Given the description of an element on the screen output the (x, y) to click on. 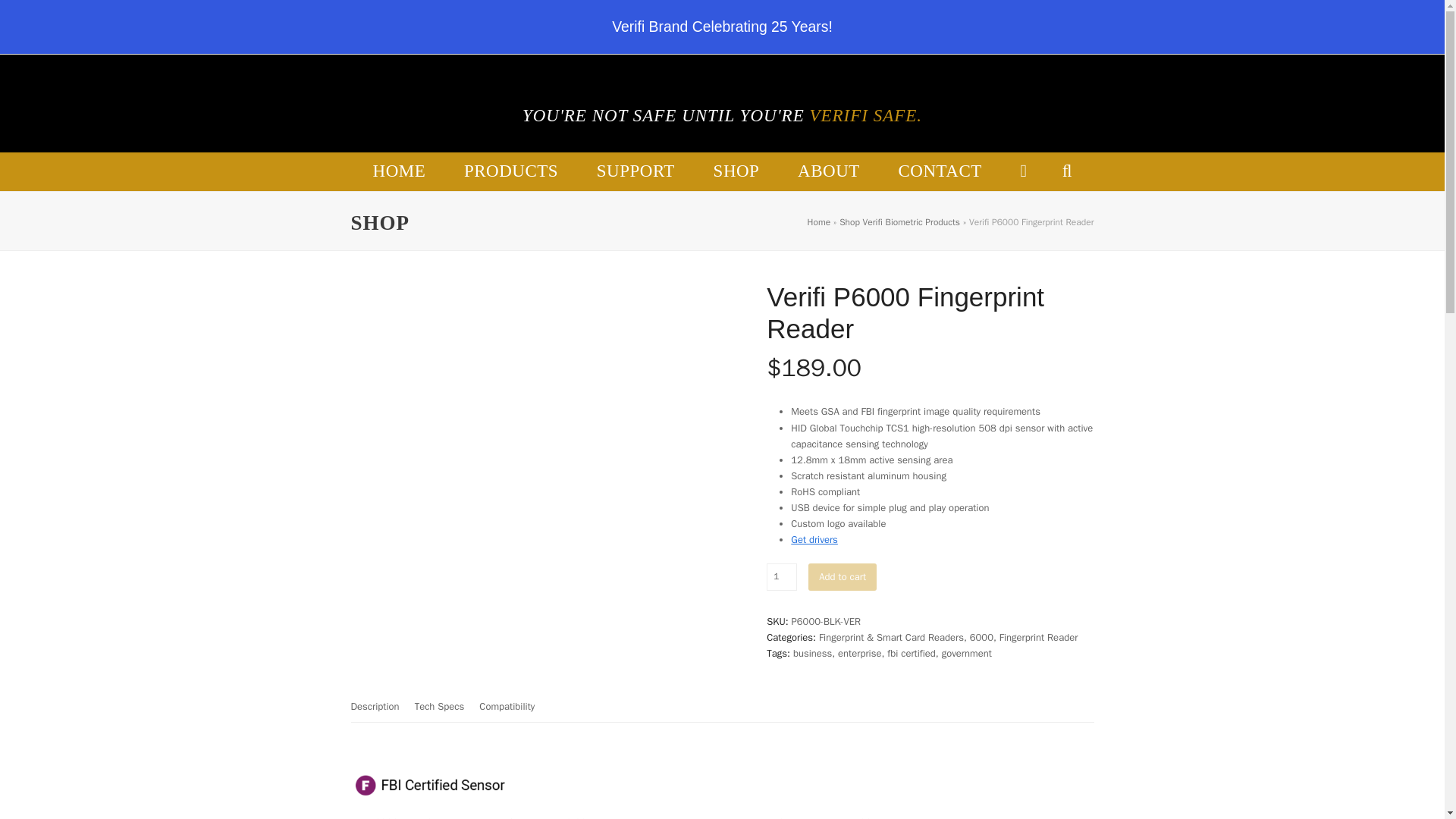
Home (819, 222)
Description (374, 706)
HOME (399, 171)
Tech Specs (439, 706)
fbi certified (911, 653)
Fingerprint Reader (1038, 636)
6000 (980, 636)
CONTACT (939, 171)
ABOUT (828, 171)
government (966, 653)
